Given the description of an element on the screen output the (x, y) to click on. 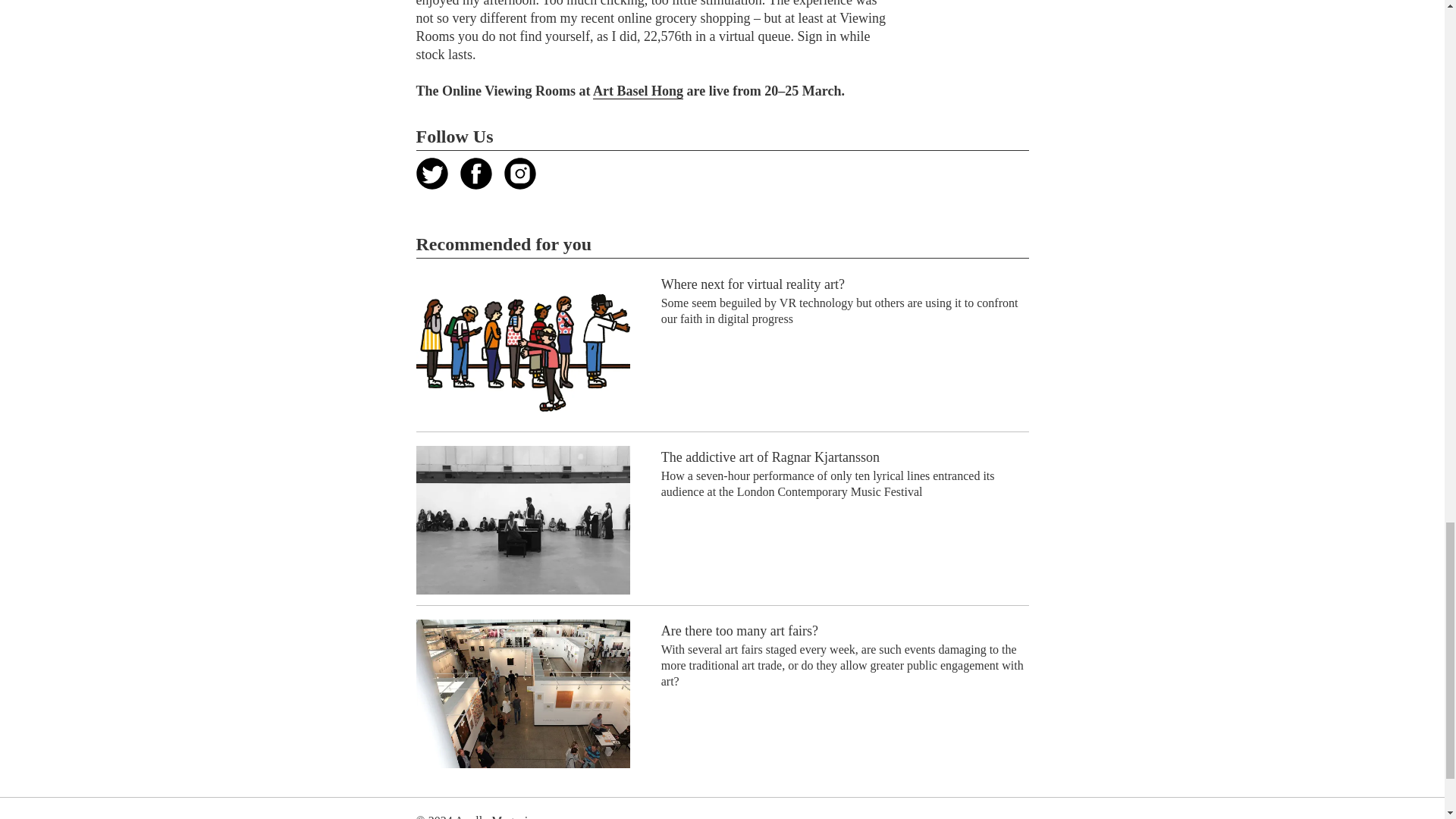
Art Basel Hong (637, 91)
